Given the description of an element on the screen output the (x, y) to click on. 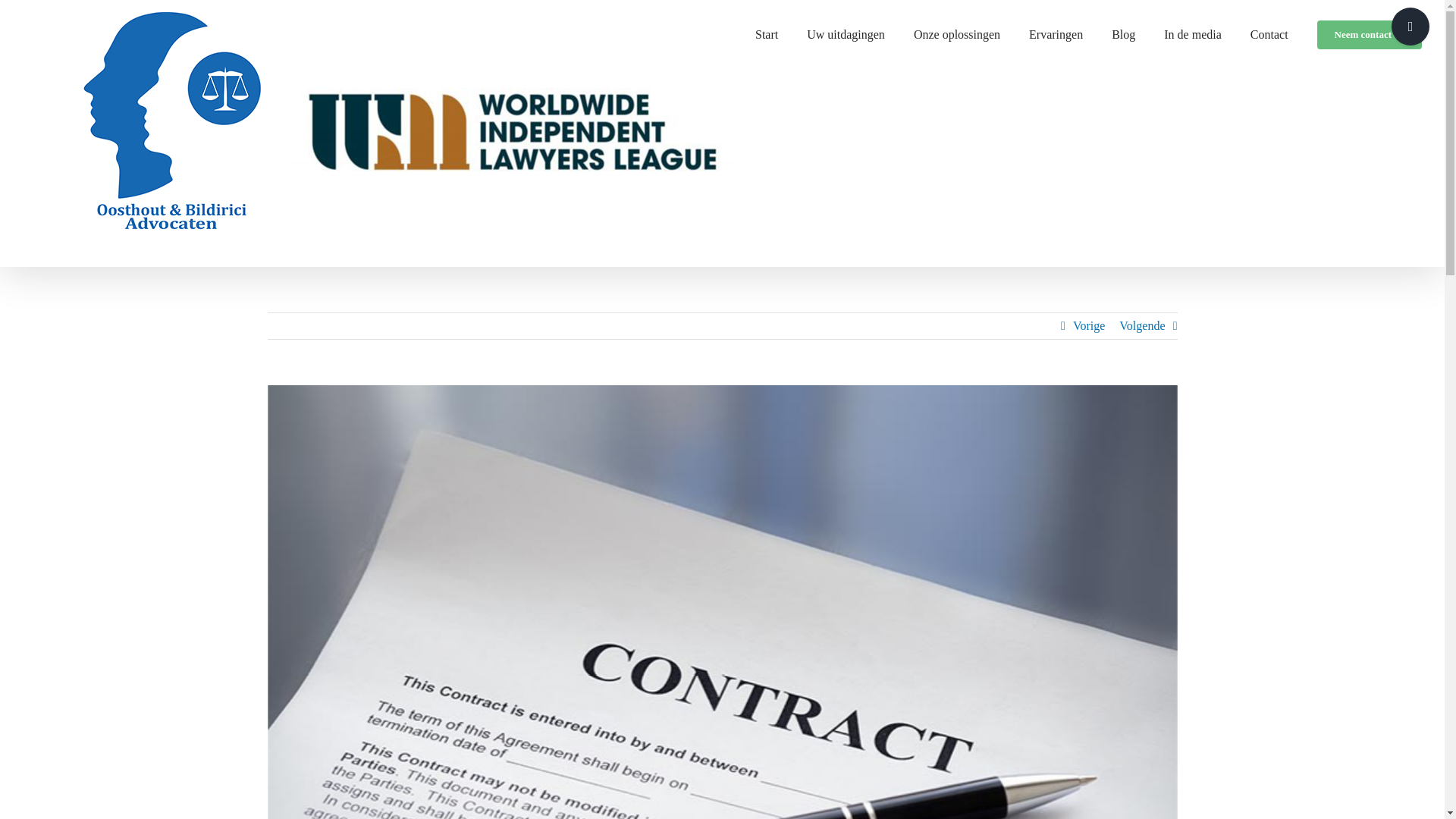
Blog (1123, 31)
Ervaringen (1056, 31)
Onze oplossingen (957, 31)
Contact (1269, 31)
Neem contact op (1369, 31)
Uw uitdagingen (845, 31)
In de media (1192, 31)
Start (766, 31)
